Given the description of an element on the screen output the (x, y) to click on. 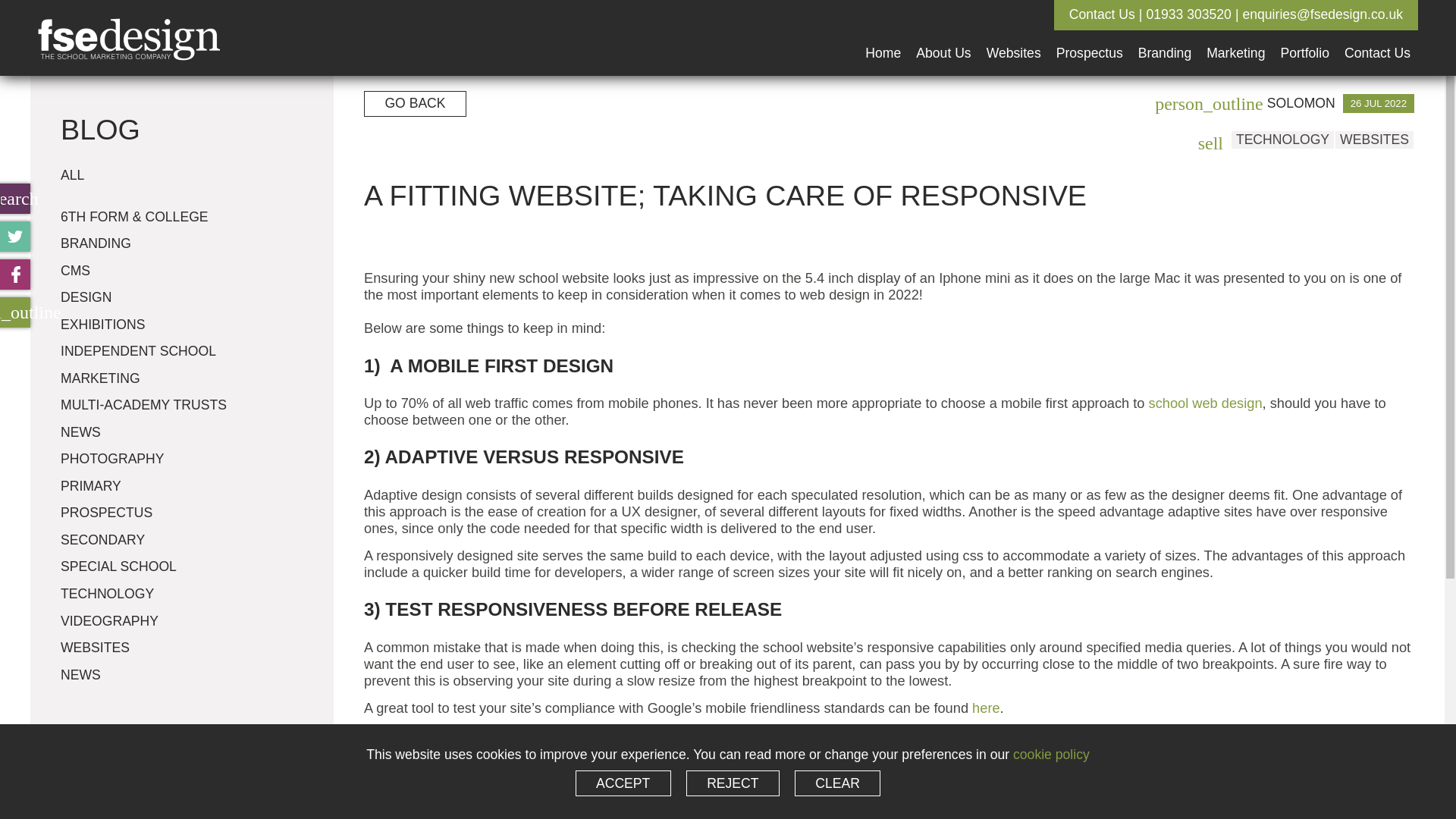
Branding For Schools (1164, 38)
School Prospectus Design (1089, 38)
About Us (943, 38)
Marketing (1235, 38)
About Us (943, 38)
Websites For Schools (1013, 38)
Contact Us (1377, 38)
Branding (1164, 38)
Websites (1013, 38)
Prospectus (1089, 38)
